Given the description of an element on the screen output the (x, y) to click on. 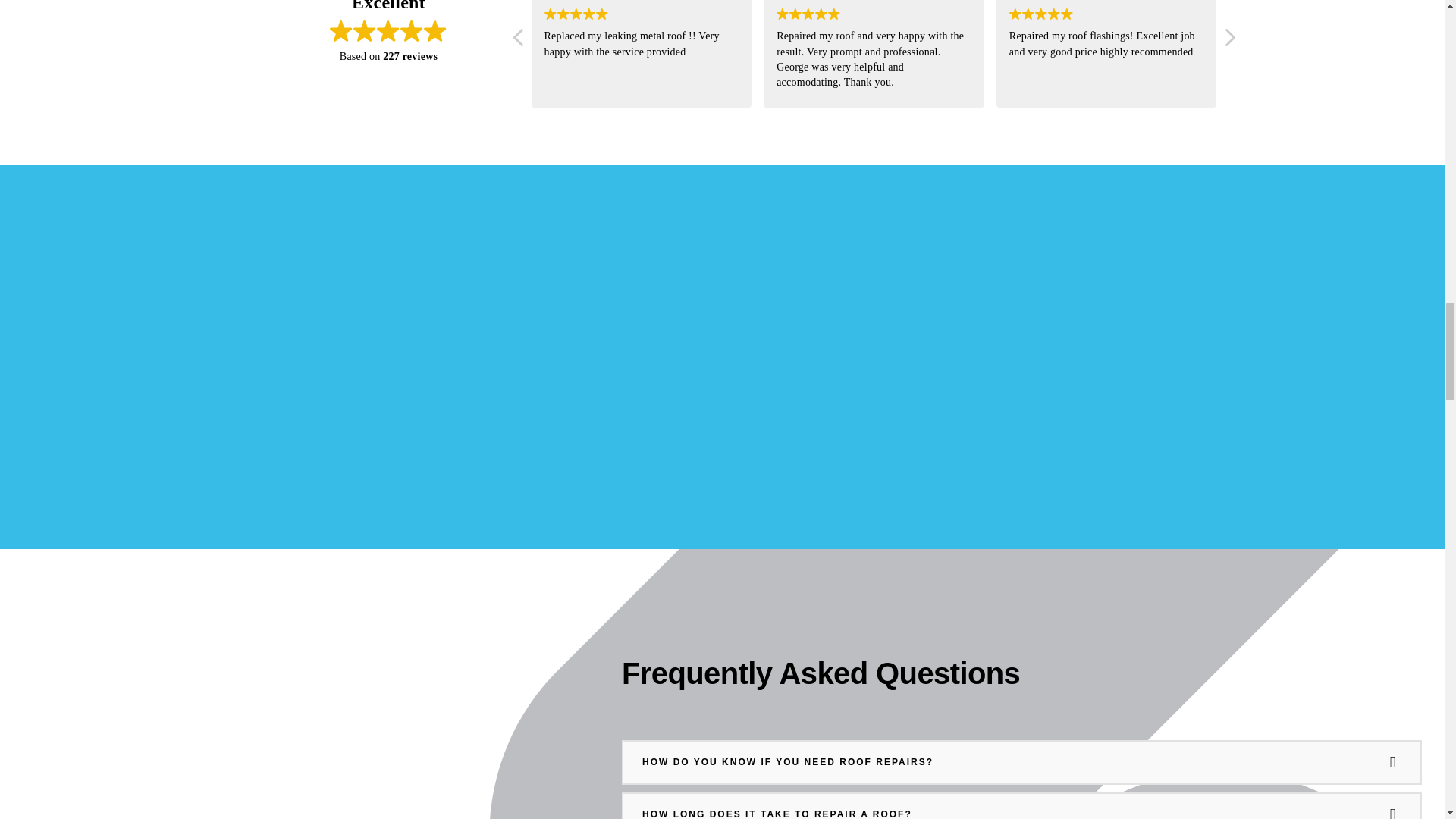
HOW DO YOU KNOW IF YOU NEED ROOF REPAIRS? (1022, 762)
HOW LONG DOES IT TAKE TO REPAIR A ROOF? (1022, 806)
